Given the description of an element on the screen output the (x, y) to click on. 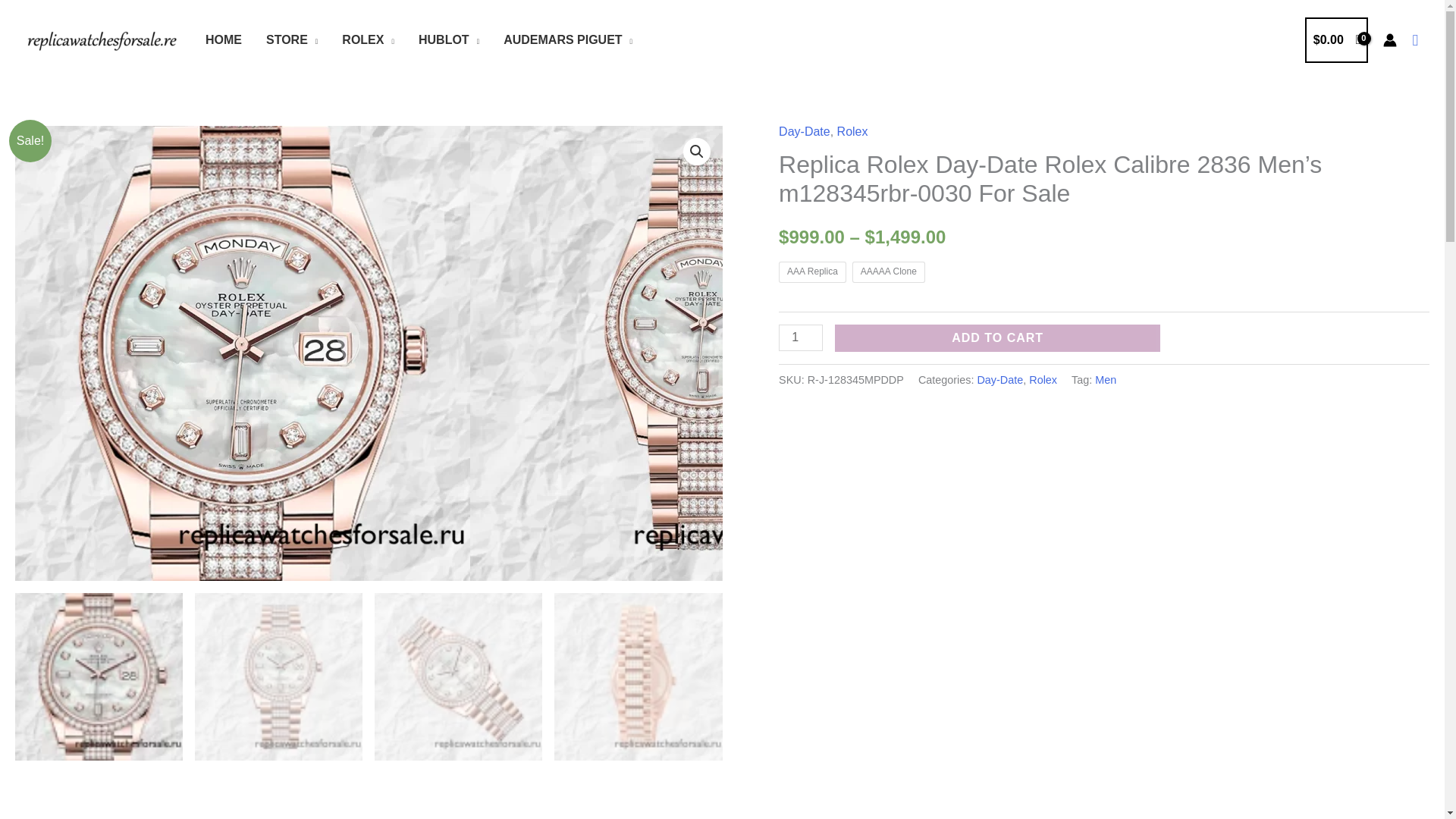
STORE (291, 39)
HUBLOT (449, 39)
HOME (223, 39)
1 (800, 337)
AUDEMARS PIGUET (568, 39)
ROLEX (368, 39)
